Given the description of an element on the screen output the (x, y) to click on. 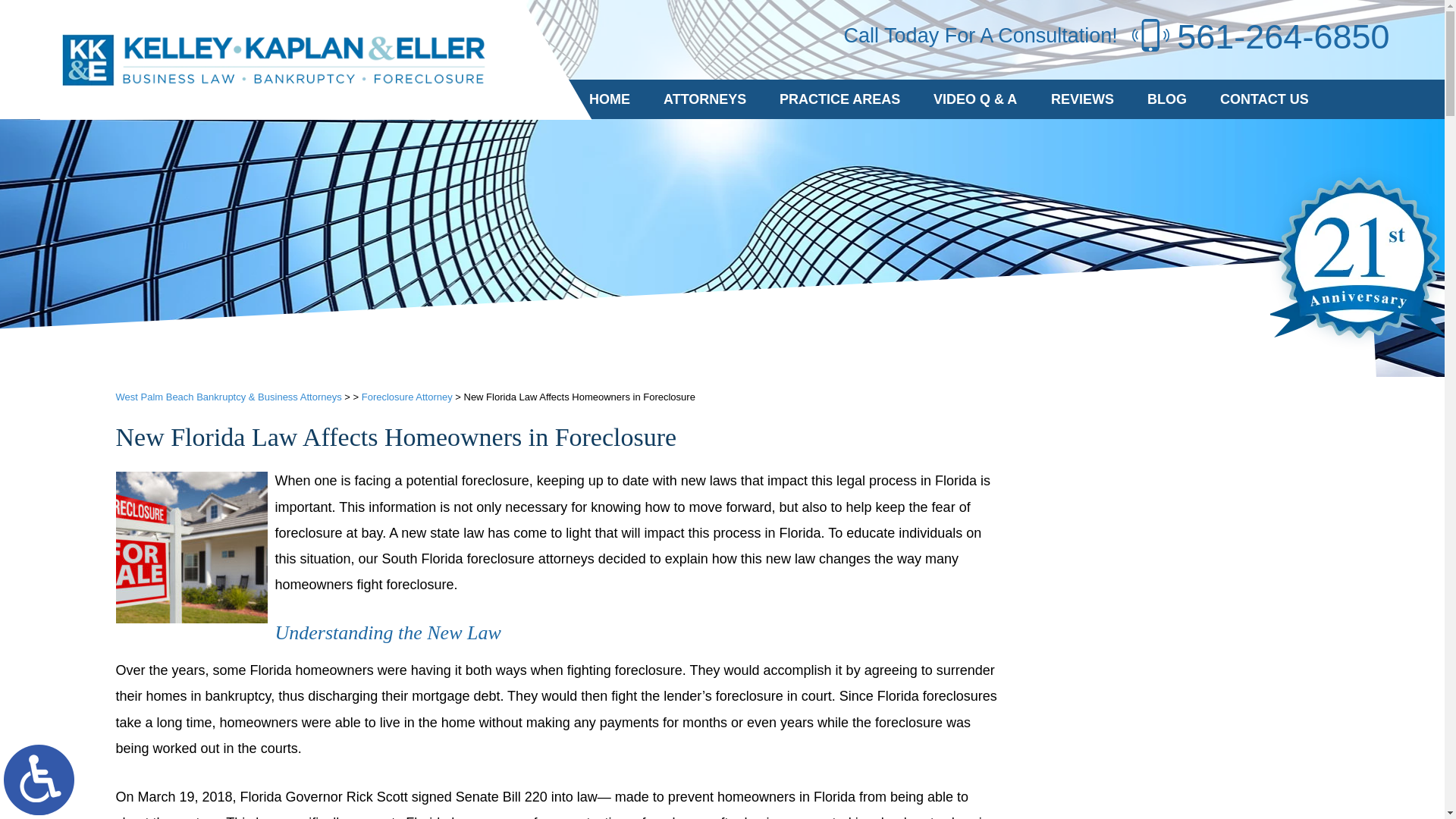
HOME (609, 98)
PRACTICE AREAS (839, 98)
ATTORNEYS (703, 98)
